Given the description of an element on the screen output the (x, y) to click on. 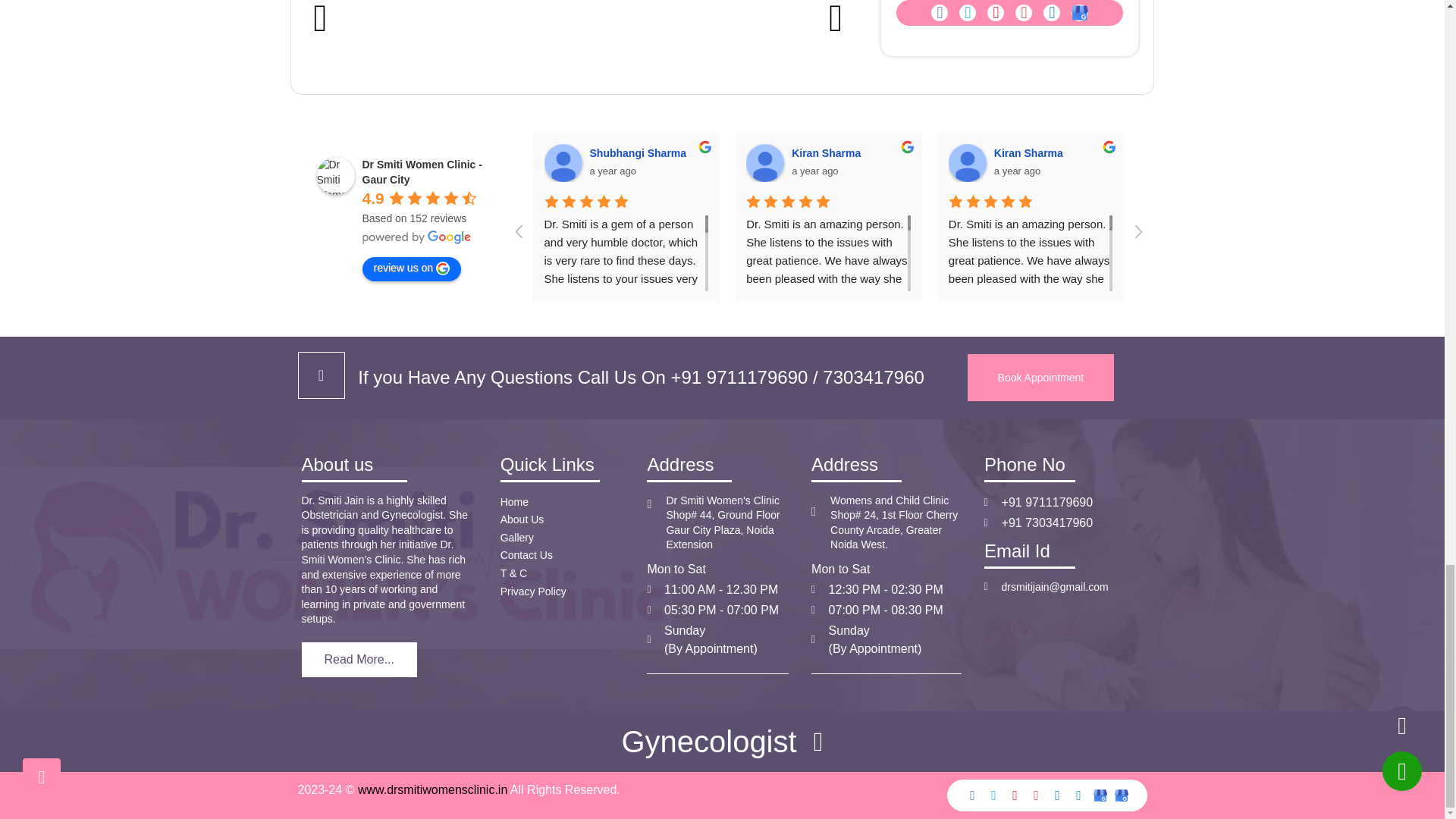
Kiran Sharma (968, 162)
YASHI SRIVASTAVA (1371, 162)
Dr Smiti Women Clinic - Gaur City (336, 175)
Radhey Arora (1169, 162)
Shubhangi Sharma (563, 162)
Kiran Sharma (764, 162)
powered by Google (416, 237)
